Given the description of an element on the screen output the (x, y) to click on. 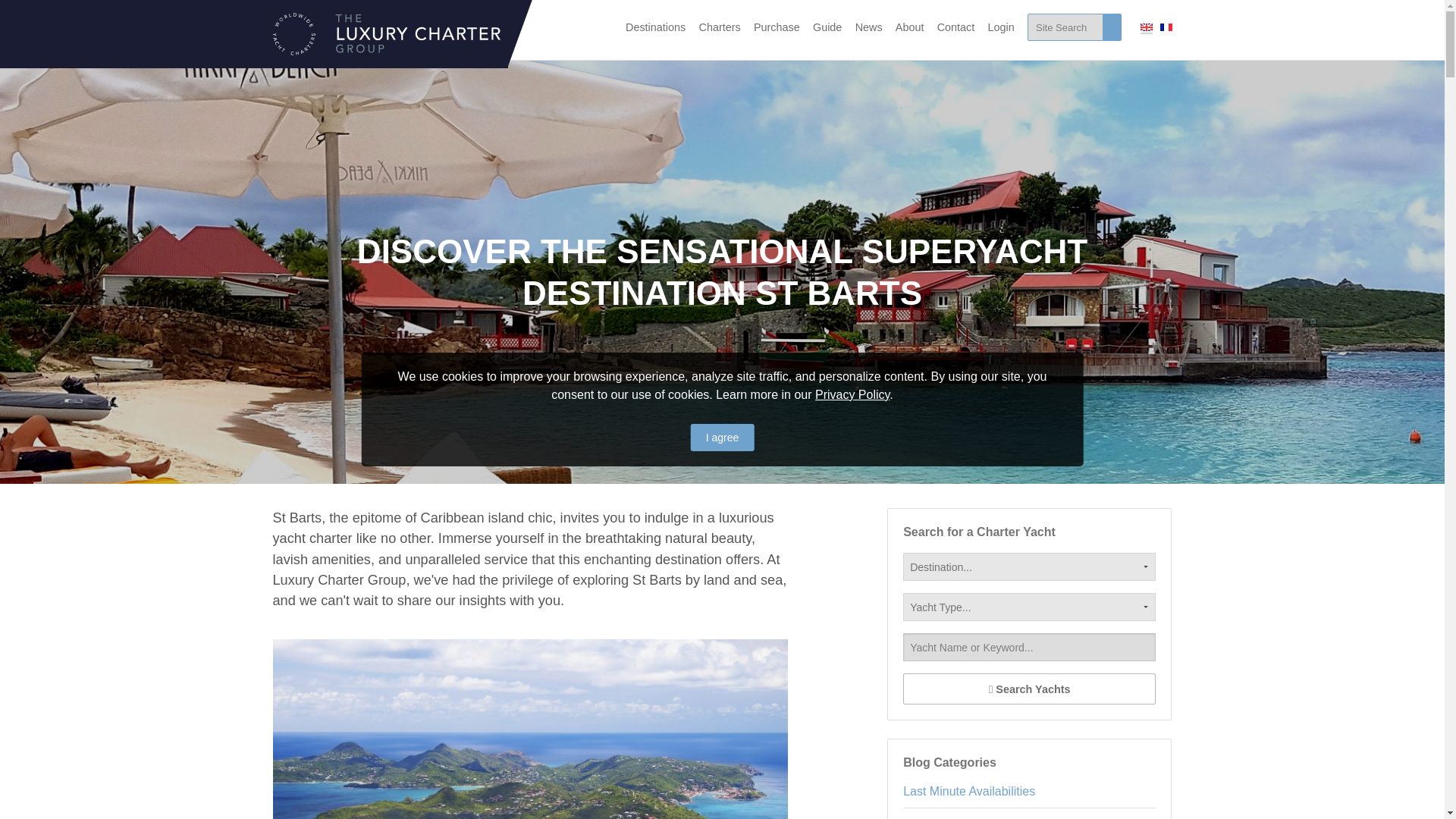
Search (1065, 26)
Luxury Charter Group (386, 33)
